Given the description of an element on the screen output the (x, y) to click on. 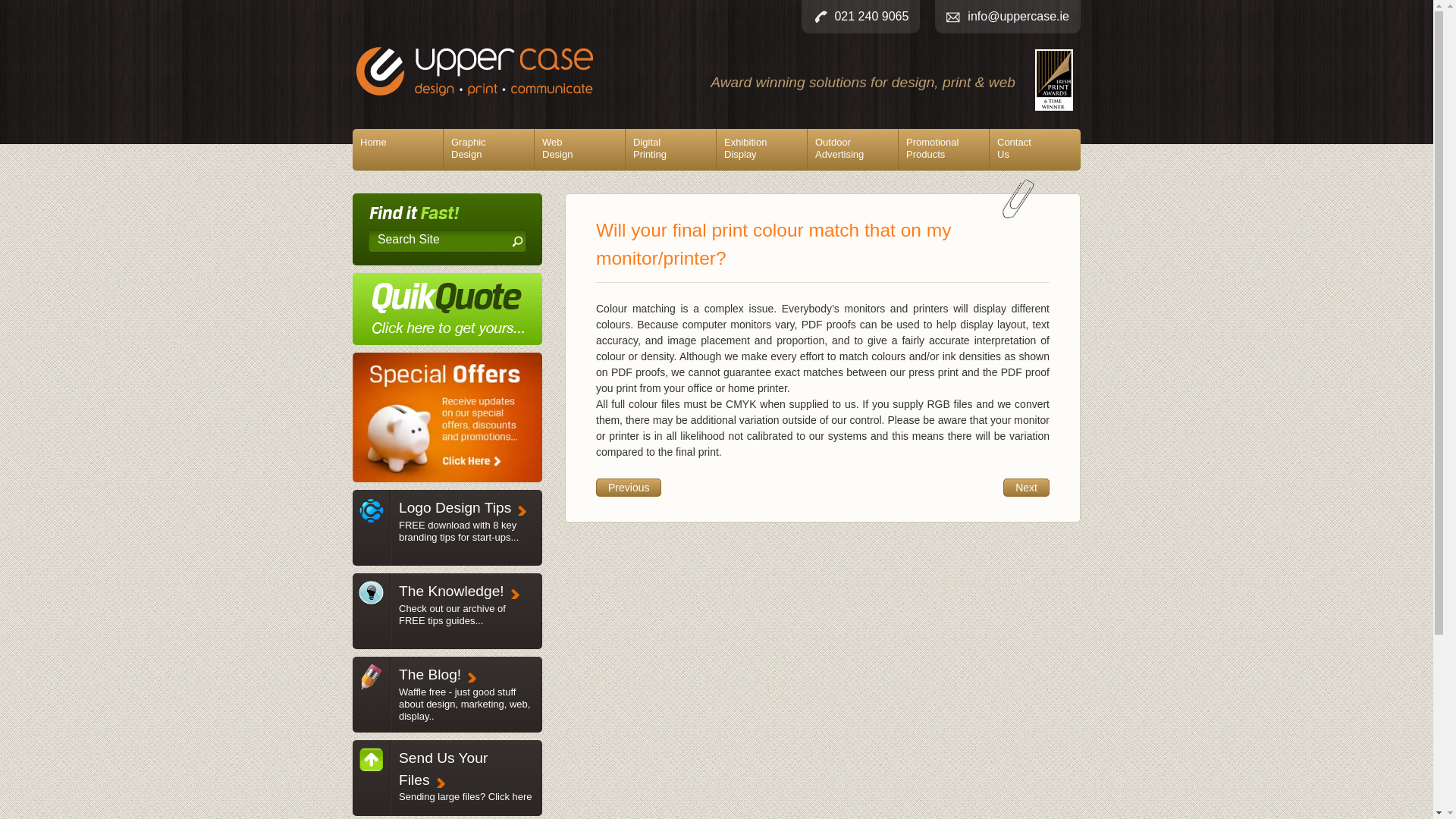
The Knowledge! (762, 149)
Search Site (451, 614)
Send Us Your Files (435, 239)
The Blog! (370, 770)
Send Us Your Files (489, 149)
The Blog! (671, 149)
The Knowledge! (429, 674)
Logo Design Tips (465, 796)
Home (463, 704)
The Blog! (370, 602)
Logo Design Tips (454, 507)
Send Us Your Files (398, 149)
